Given the description of an element on the screen output the (x, y) to click on. 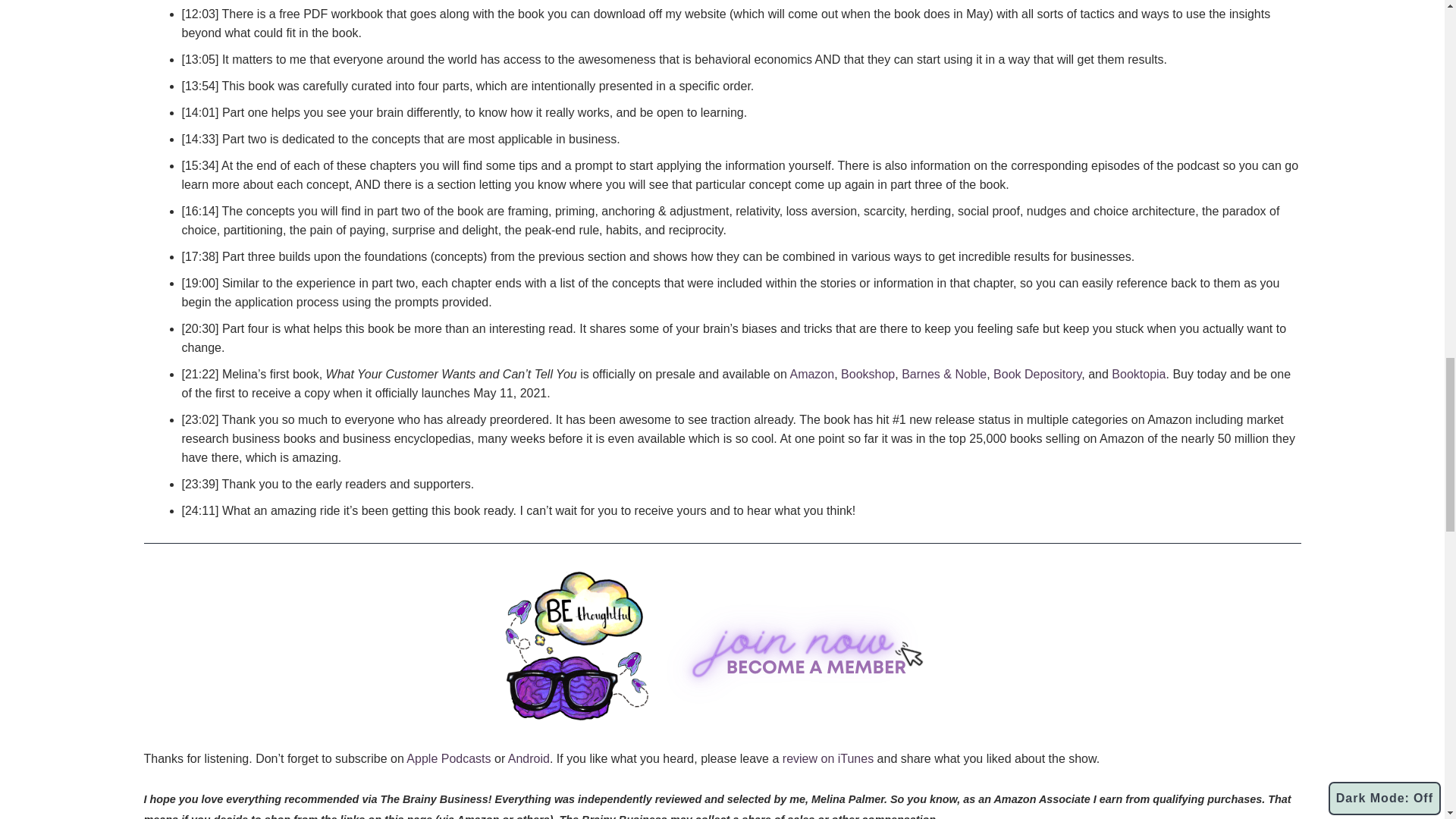
Amazon (811, 373)
Apple Podcasts (448, 758)
Bookshop (868, 373)
review on iTunes (828, 758)
Book Depository (1036, 373)
Booktopia (1139, 373)
Android (529, 758)
